Given the description of an element on the screen output the (x, y) to click on. 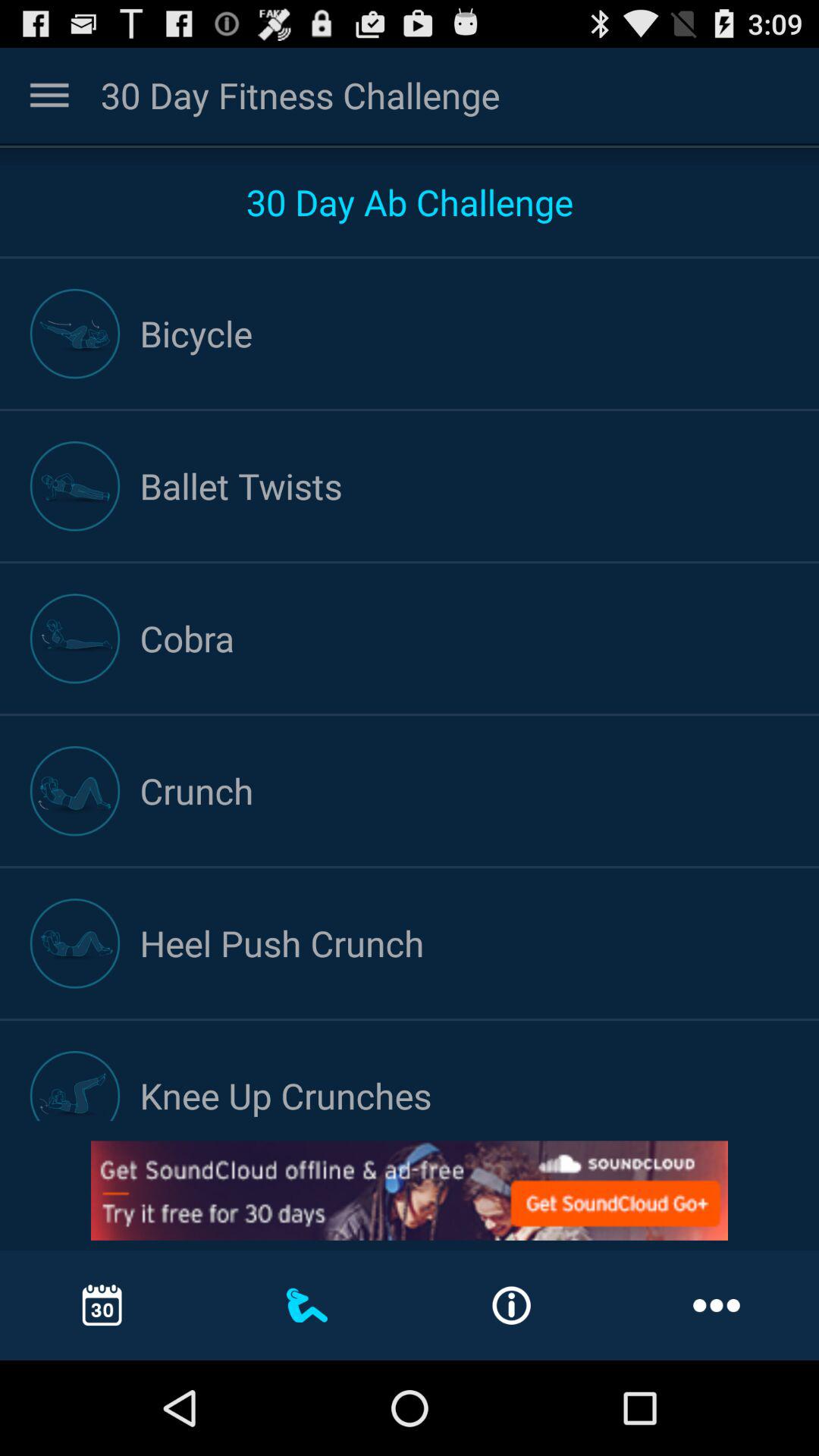
see advertisement (409, 1190)
